Given the description of an element on the screen output the (x, y) to click on. 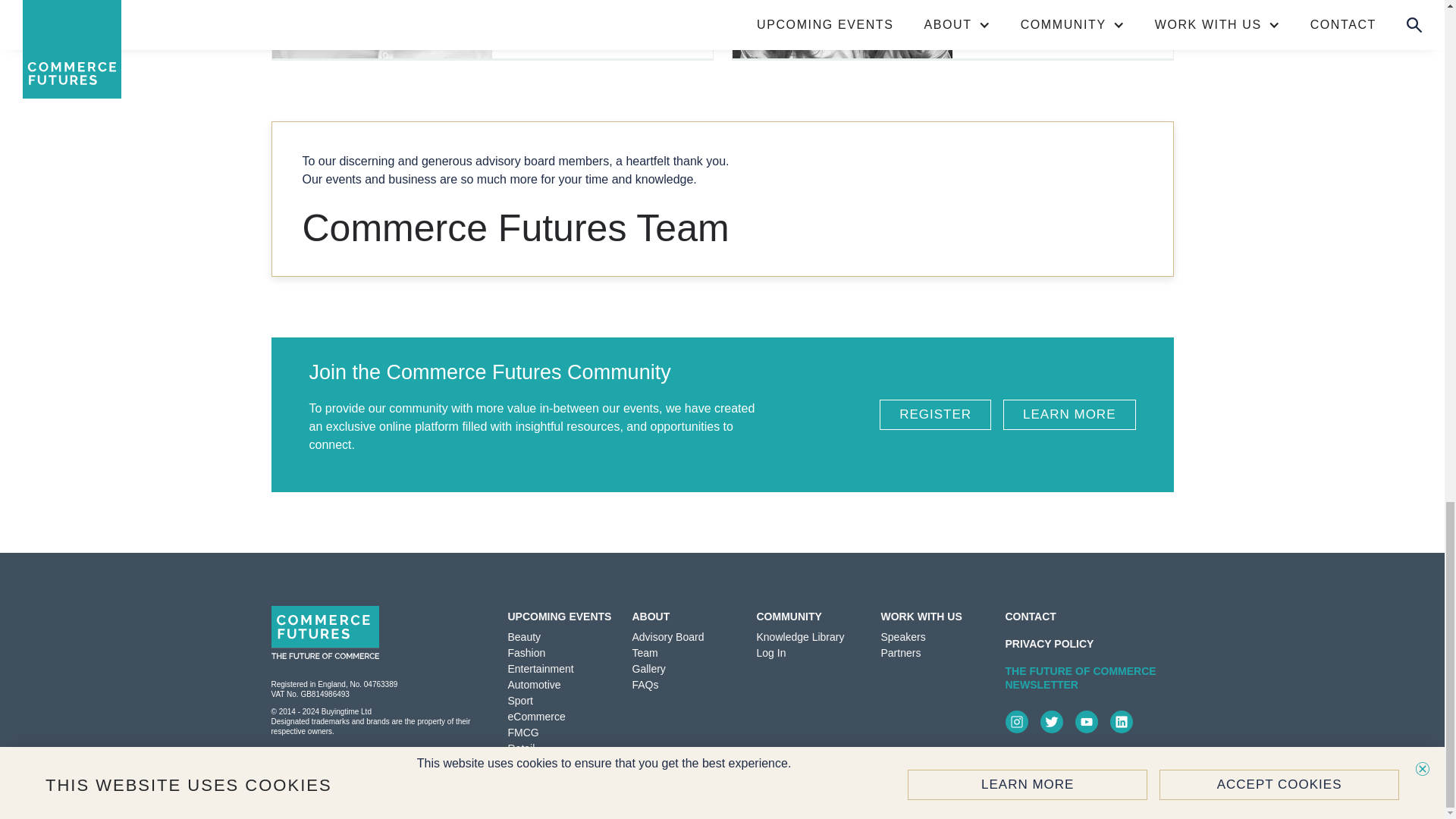
Beauty (524, 636)
UPCOMING EVENTS (559, 616)
LEARN MORE (1069, 414)
REGISTER (935, 414)
